Given the description of an element on the screen output the (x, y) to click on. 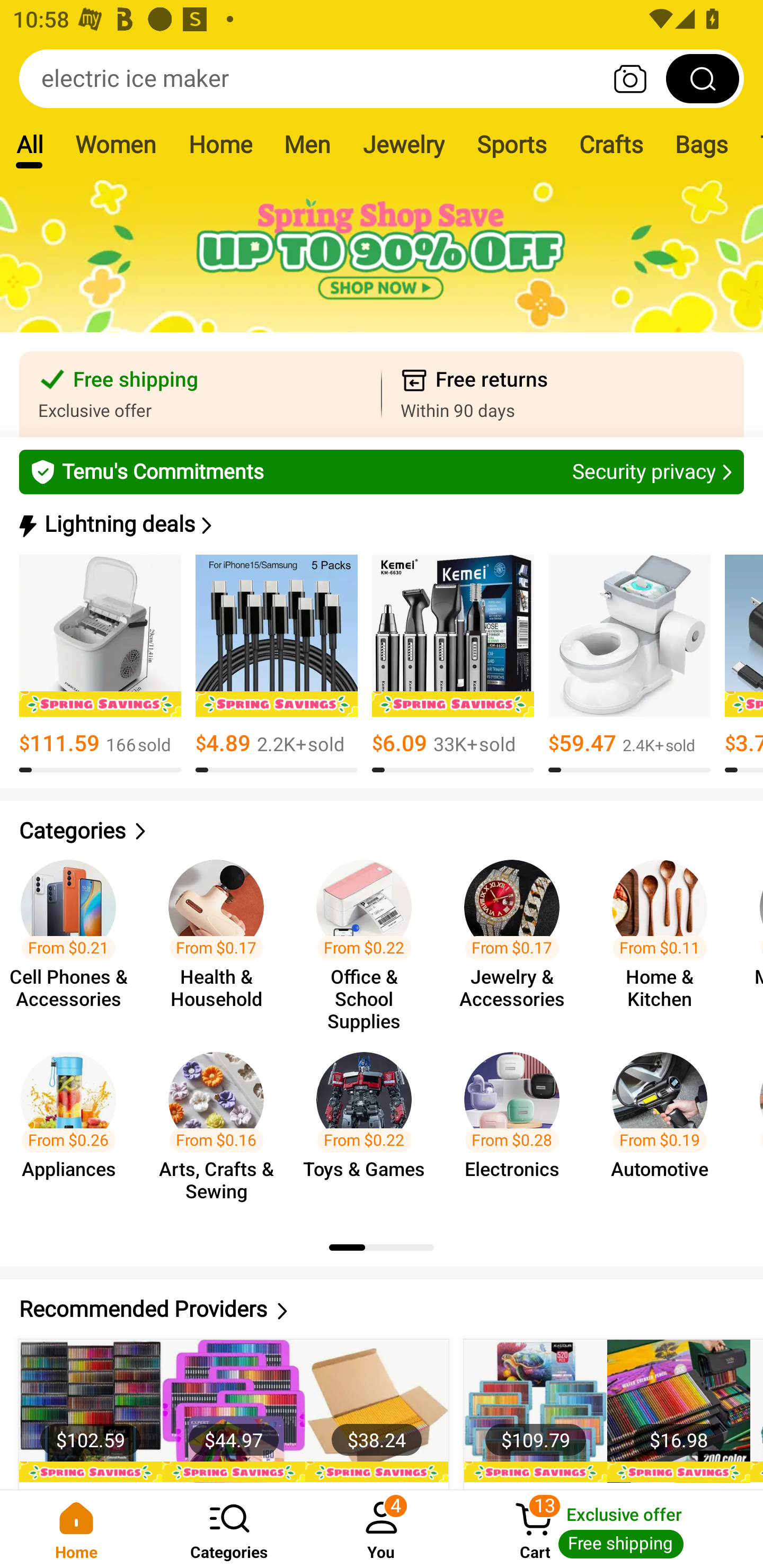
electric ice maker (381, 78)
All (29, 144)
Women (115, 144)
Home (219, 144)
Men (306, 144)
Jewelry (403, 144)
Sports (511, 144)
Crafts (611, 144)
Bags (701, 144)
Free shipping Exclusive offer (200, 394)
Free returns Within 90 days (562, 394)
Temu's Commitments (381, 471)
Lightning deals (379, 524)
$111.59 166￼sold 8.0 (100, 664)
$4.89 2.2K+￼sold 8.0 (276, 664)
$6.09 33K+￼sold 8.0 (453, 664)
$59.47 2.4K+￼sold 8.0 (629, 664)
Categories (381, 830)
From $0.21 Cell Phones & Accessories (74, 936)
From $0.17 Health & Household (222, 936)
From $0.22 Office & School Supplies (369, 936)
From $0.17 Jewelry & Accessories (517, 936)
From $0.11 Home & Kitchen (665, 936)
From $0.26 Appliances (74, 1128)
From $0.16 Arts, Crafts & Sewing (222, 1128)
From $0.22 Toys & Games (369, 1128)
From $0.28 Electronics (517, 1128)
From $0.19 Automotive (665, 1128)
Recommended Providers (381, 1309)
Home (76, 1528)
Categories (228, 1528)
You 4 You (381, 1528)
Cart 13 Cart Exclusive offer (610, 1528)
